Given the description of an element on the screen output the (x, y) to click on. 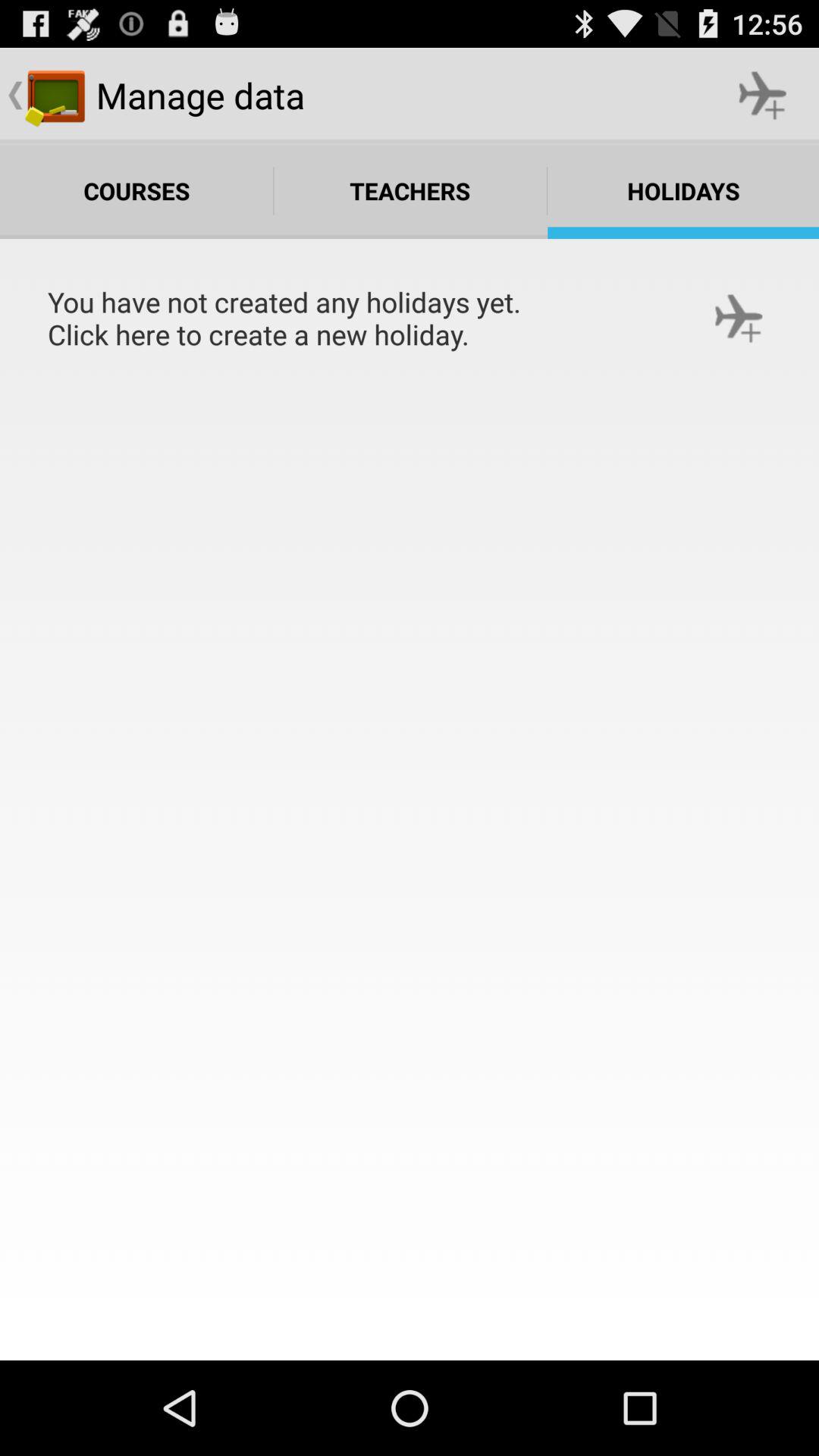
choose the item to the right of manage data app (763, 95)
